Given the description of an element on the screen output the (x, y) to click on. 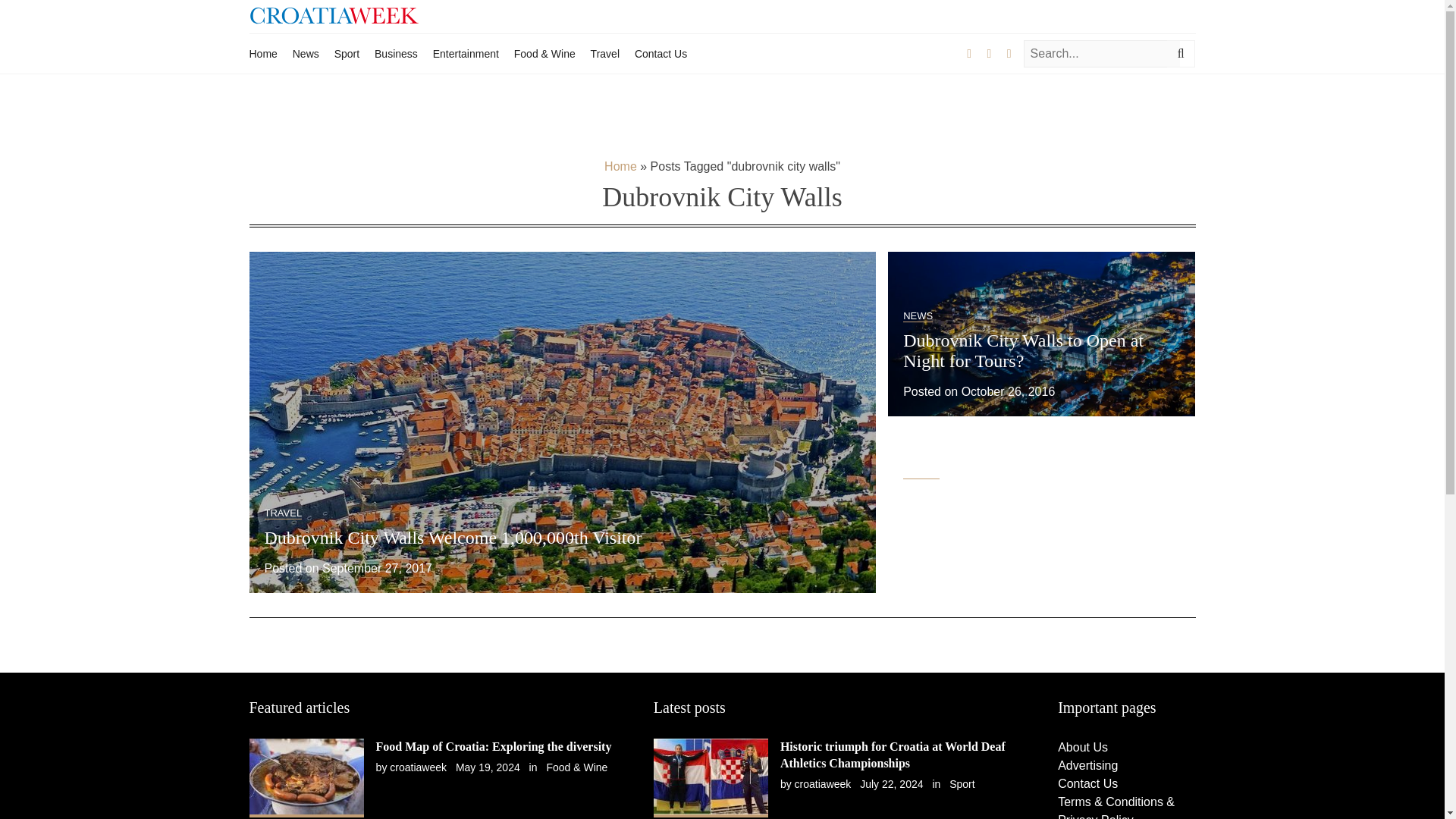
News (305, 53)
Travel (605, 53)
Food Map of Croatia: Exploring the diversity (493, 746)
Home (620, 165)
Entertainment (465, 53)
Sport (346, 53)
TRAVEL (282, 512)
Dubrovnik City Walls Welcome 1,000,000th Visitor (452, 537)
croatiaweek (418, 767)
Home (262, 53)
NEWS (917, 316)
LATEST (920, 472)
Dubrovnik City Walls to Open at Night for Tours? (1022, 350)
Business (395, 53)
